Given the description of an element on the screen output the (x, y) to click on. 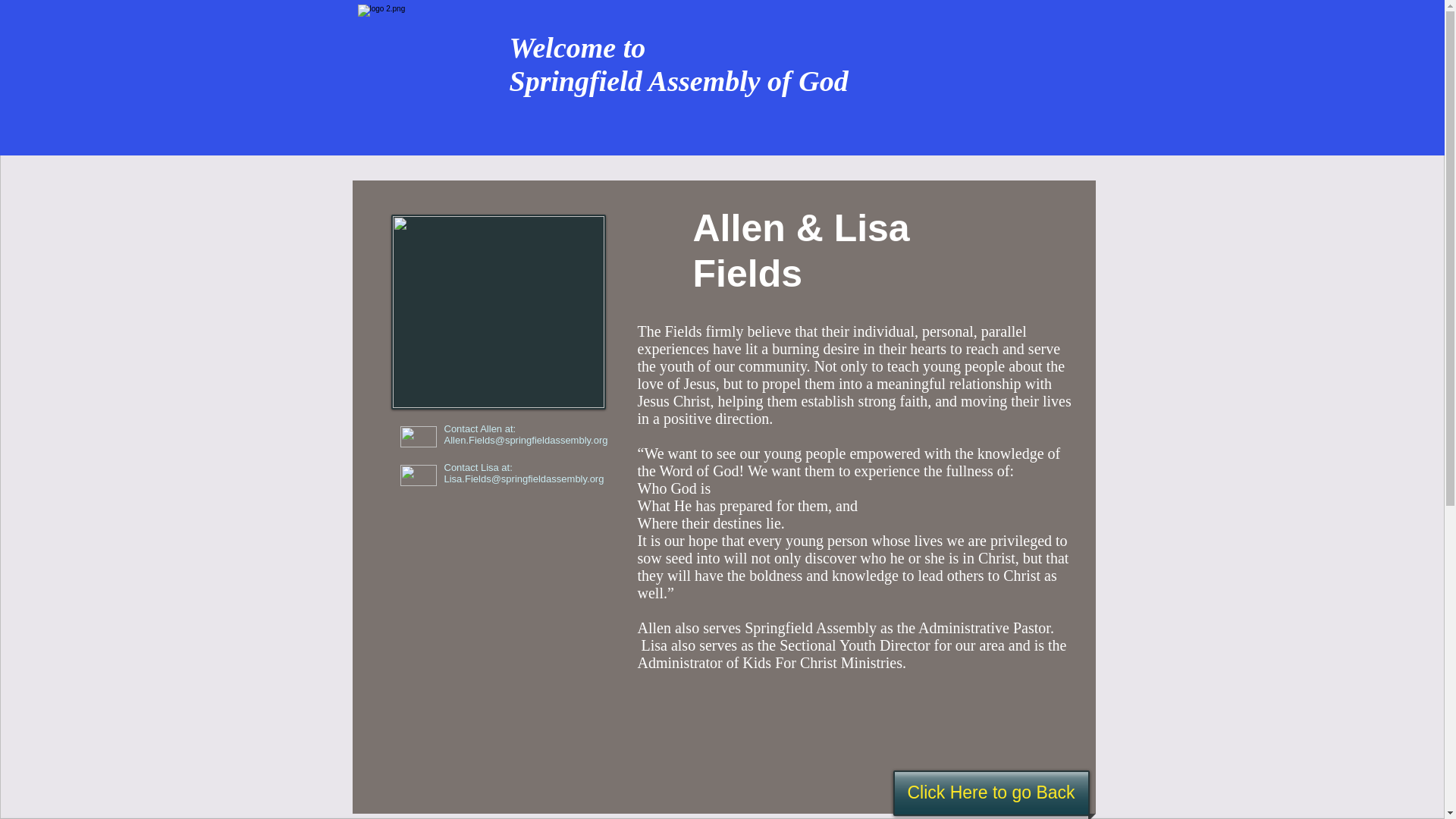
Click Here to go Back (991, 792)
